Given the description of an element on the screen output the (x, y) to click on. 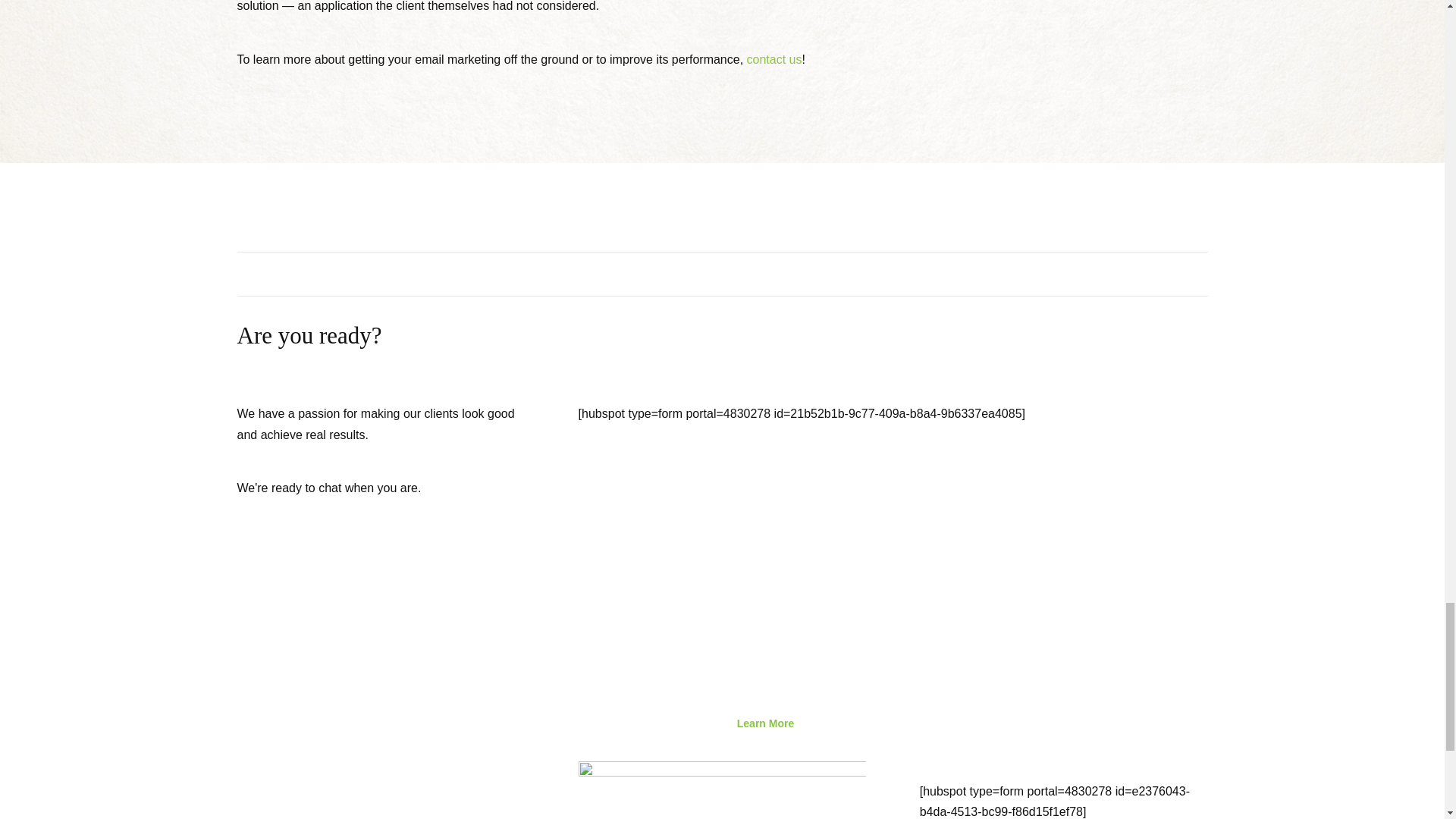
Clients (594, 726)
Services (647, 726)
contact us (774, 59)
hubspot (722, 790)
